Given the description of an element on the screen output the (x, y) to click on. 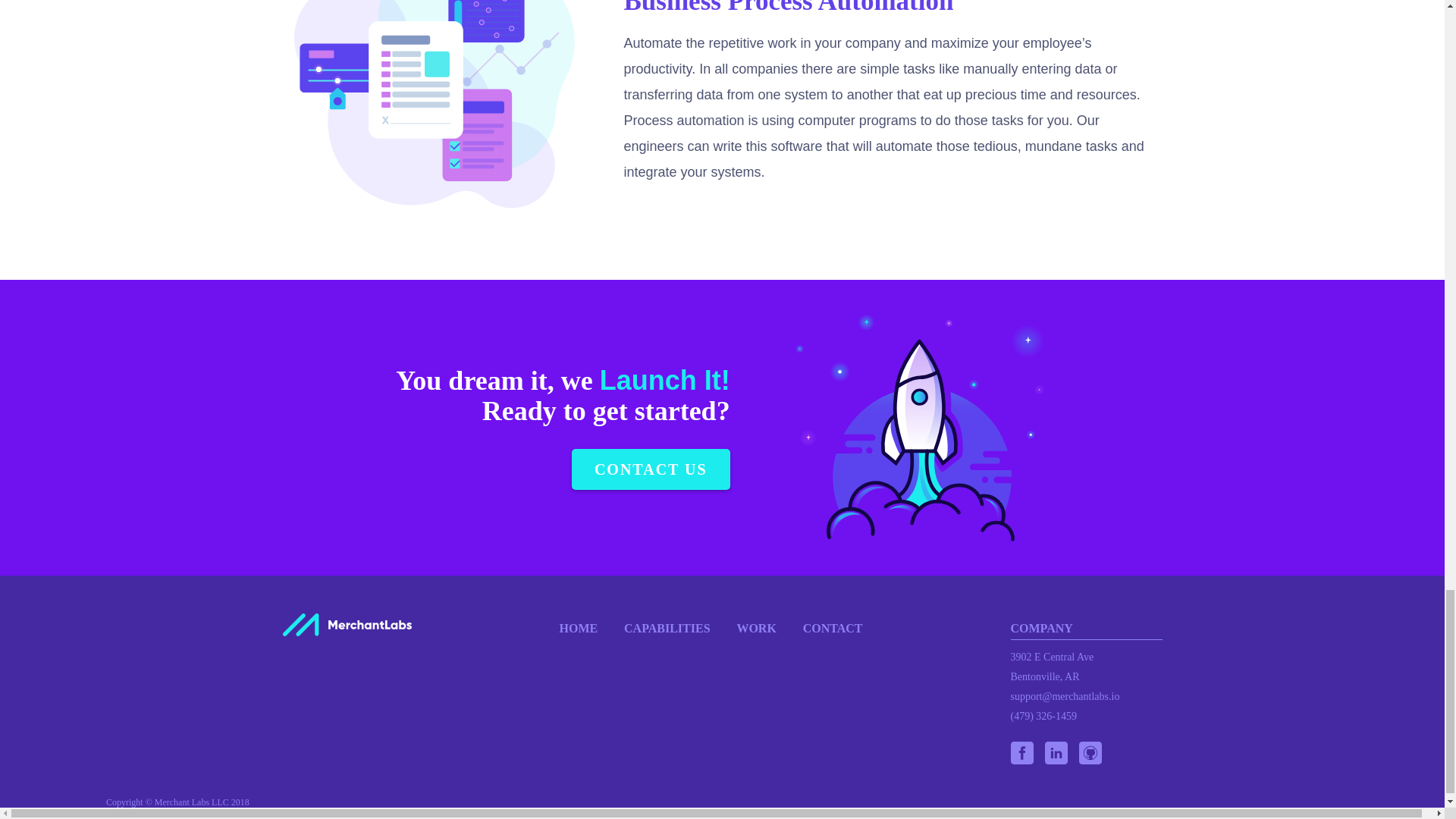
WORK (756, 627)
CAPABILITIES (667, 627)
CONTACT (833, 627)
CONTACT US (651, 468)
HOME (578, 627)
